Given the description of an element on the screen output the (x, y) to click on. 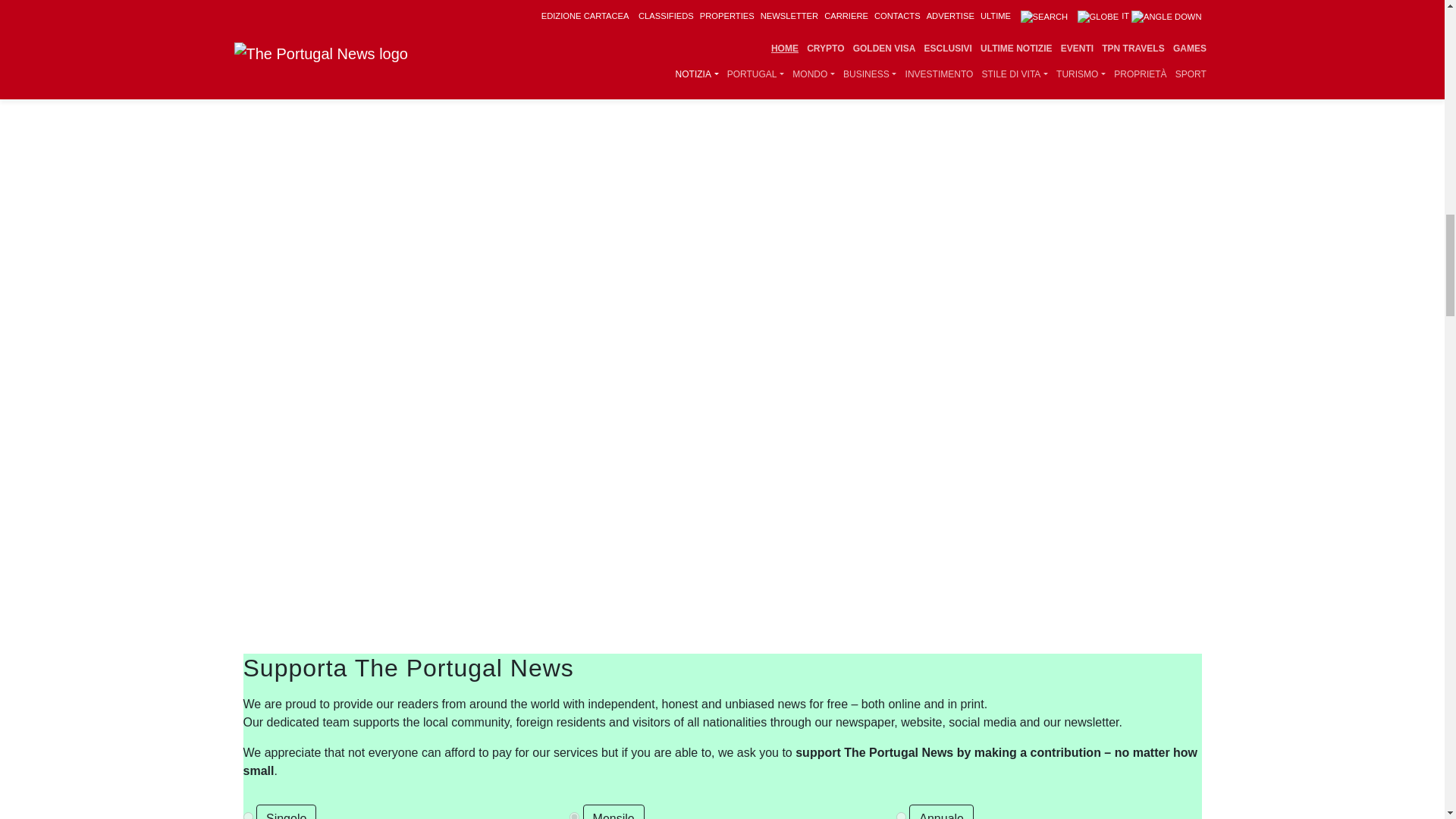
P-6T2758016F920900CMGGQYMQ (574, 815)
single (247, 815)
P-18662245734186221MGVD6SI (900, 815)
